Given the description of an element on the screen output the (x, y) to click on. 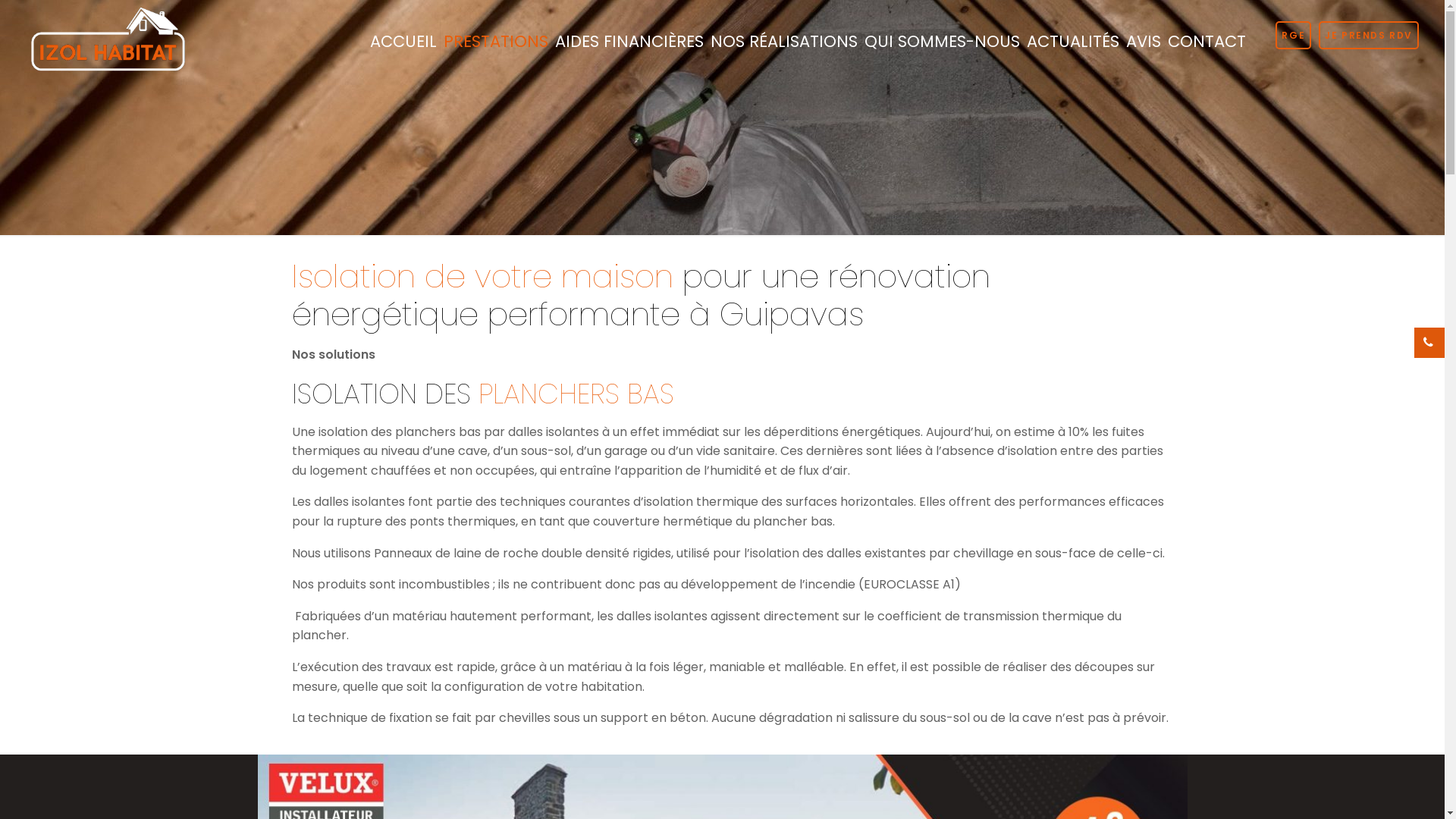
JE PRENDS RDV Element type: text (1368, 35)
QUI SOMMES-NOUS Element type: text (942, 41)
IZOL HABITAT Element type: hover (107, 37)
RGE Element type: text (1293, 35)
CONTACT Element type: text (1206, 41)
PRESTATIONS Element type: text (496, 41)
ACCUEIL Element type: text (403, 41)
AVIS Element type: text (1143, 41)
